Given the description of an element on the screen output the (x, y) to click on. 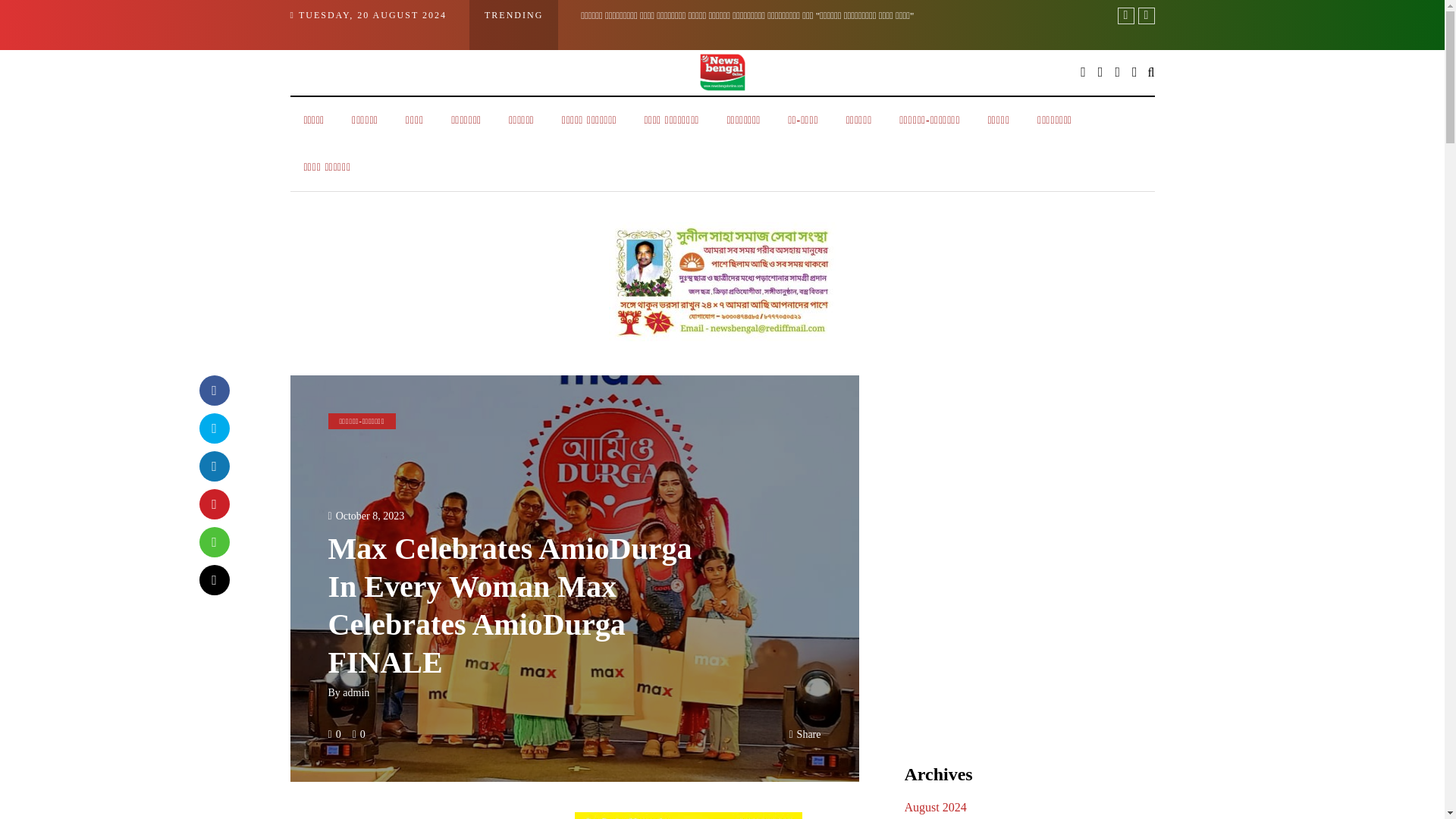
Share to WhatsApp (213, 541)
Posts by admin (355, 692)
Tweet this (213, 427)
Pin this (213, 503)
Share to Telegram (213, 579)
Share with LinkedIn (213, 465)
Share with Facebook (213, 389)
